Given the description of an element on the screen output the (x, y) to click on. 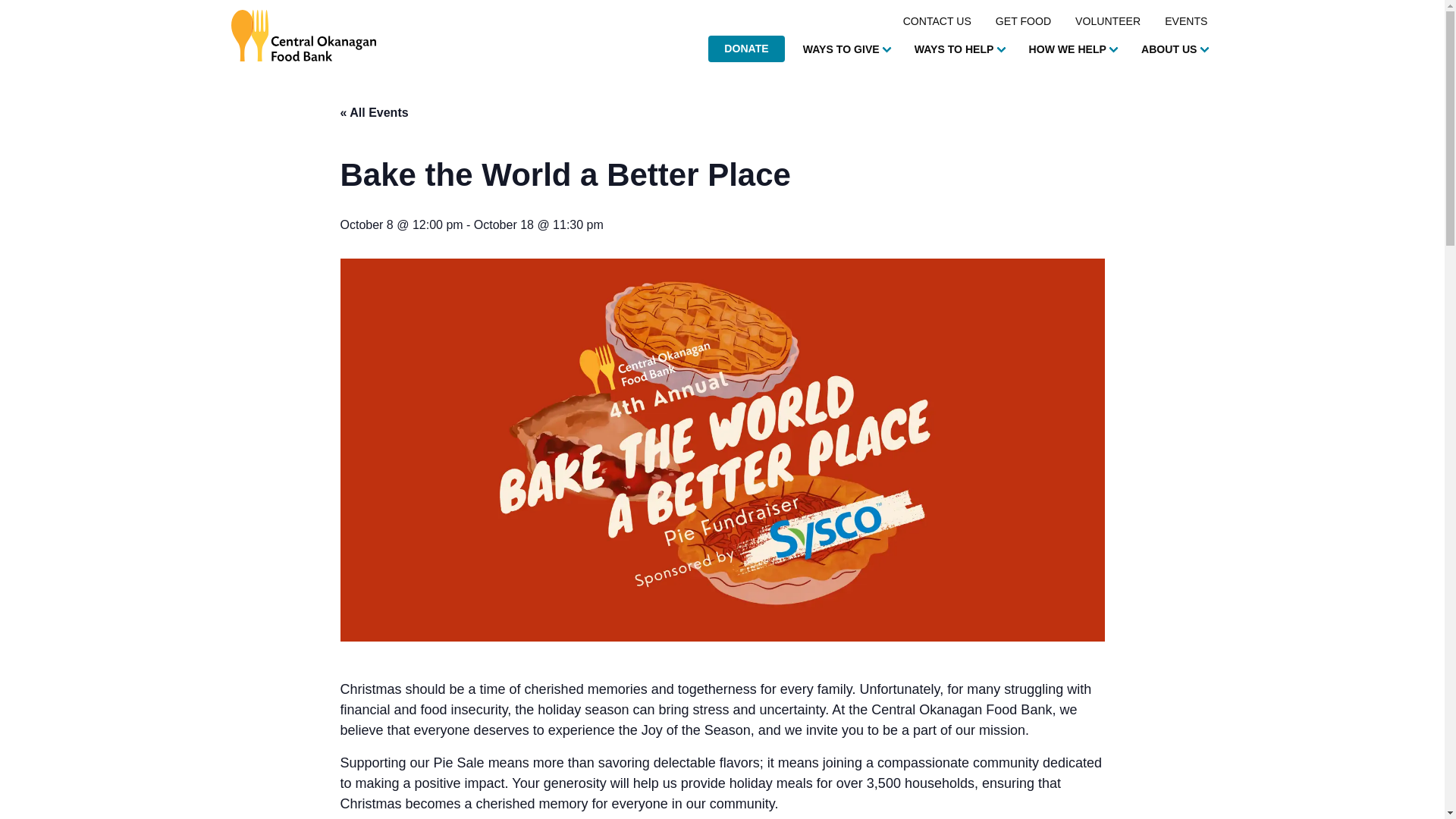
WAYS TO GIVE (846, 49)
Ways to Give (846, 49)
VOLUNTEER (1107, 21)
Donate (745, 49)
DONATE (745, 49)
Volunteer (1107, 21)
WAYS TO HELP (959, 49)
Get Food (1023, 21)
Contact Us (936, 21)
ABOUT US (1174, 49)
Events (1185, 21)
CONTACT US (936, 21)
HOW WE HELP (1072, 49)
GET FOOD (1023, 21)
Ways to Help (959, 49)
